Given the description of an element on the screen output the (x, y) to click on. 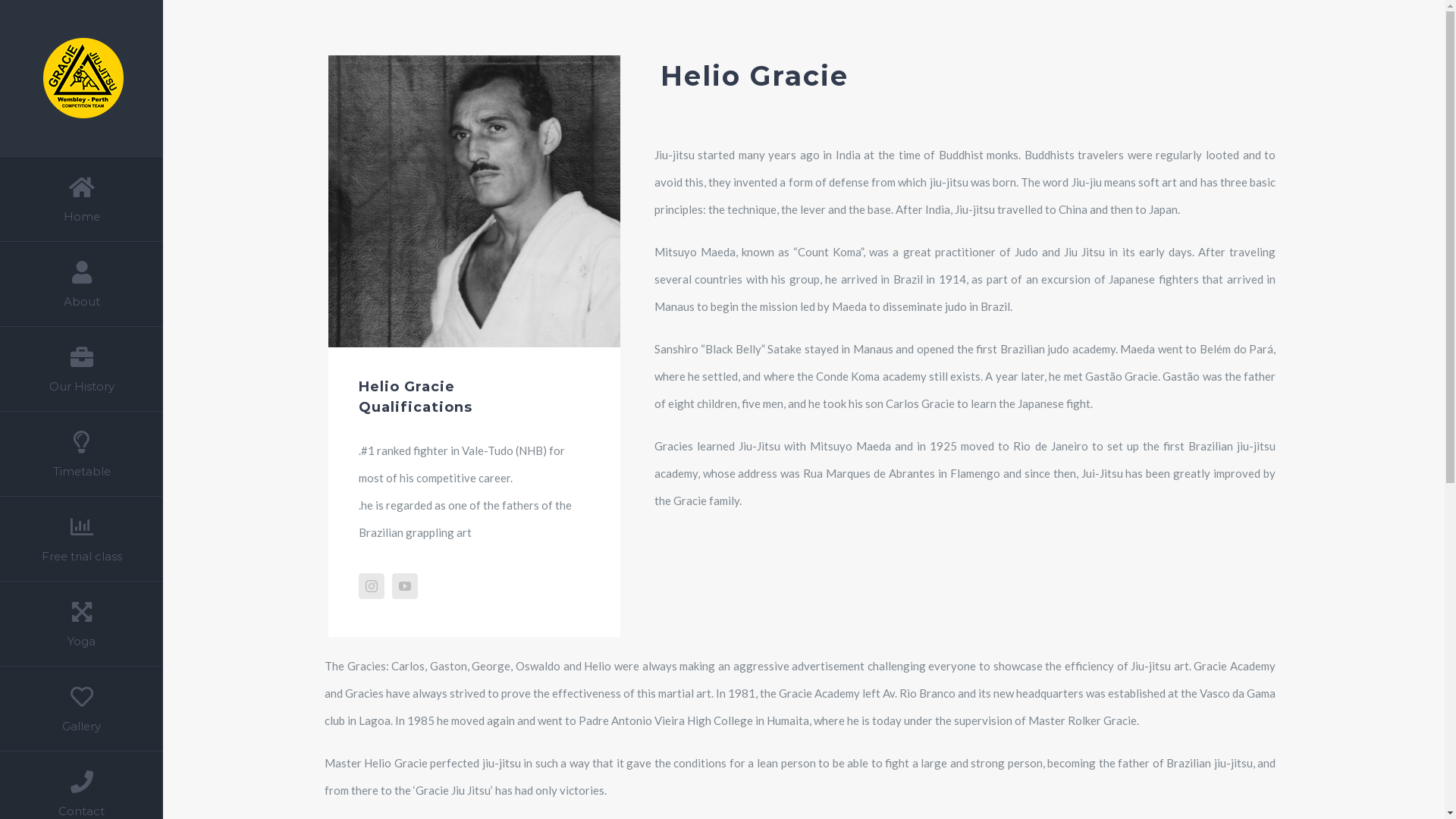
Timetable Element type: text (81, 453)
Our History Element type: text (81, 368)
Free trial class Element type: text (81, 538)
Yoga Element type: text (81, 623)
Gallery Element type: text (81, 708)
About Element type: text (81, 283)
Home Element type: text (81, 198)
